Given the description of an element on the screen output the (x, y) to click on. 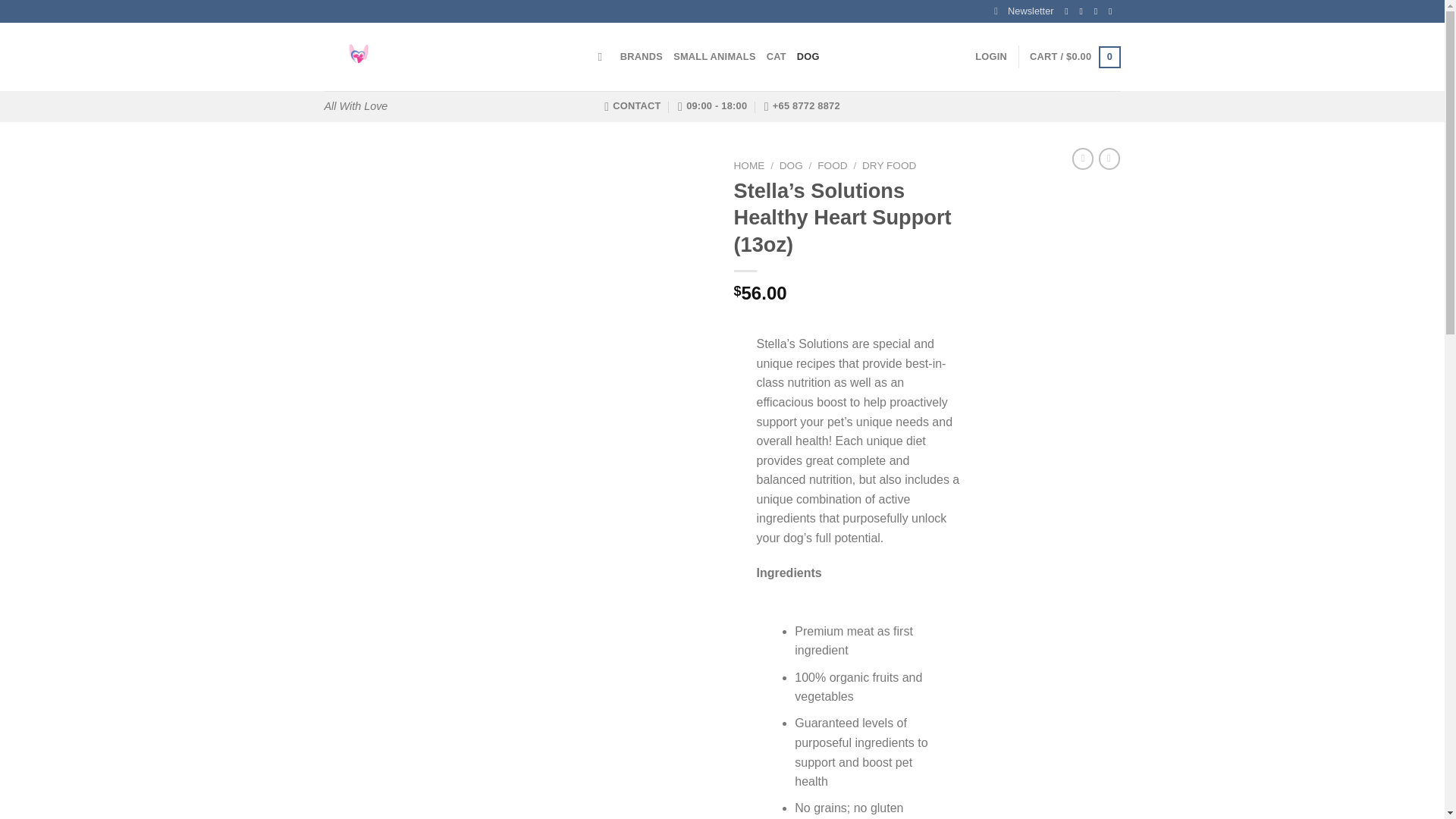
Cart (1074, 57)
LOGIN (991, 56)
DRY FOOD (888, 165)
FOOD (831, 165)
Newsletter (1023, 11)
09:00 - 18:00  (712, 105)
HOME (749, 165)
CONTACT (632, 105)
BRANDS (641, 56)
Sign up for Newsletter (1023, 11)
